Given the description of an element on the screen output the (x, y) to click on. 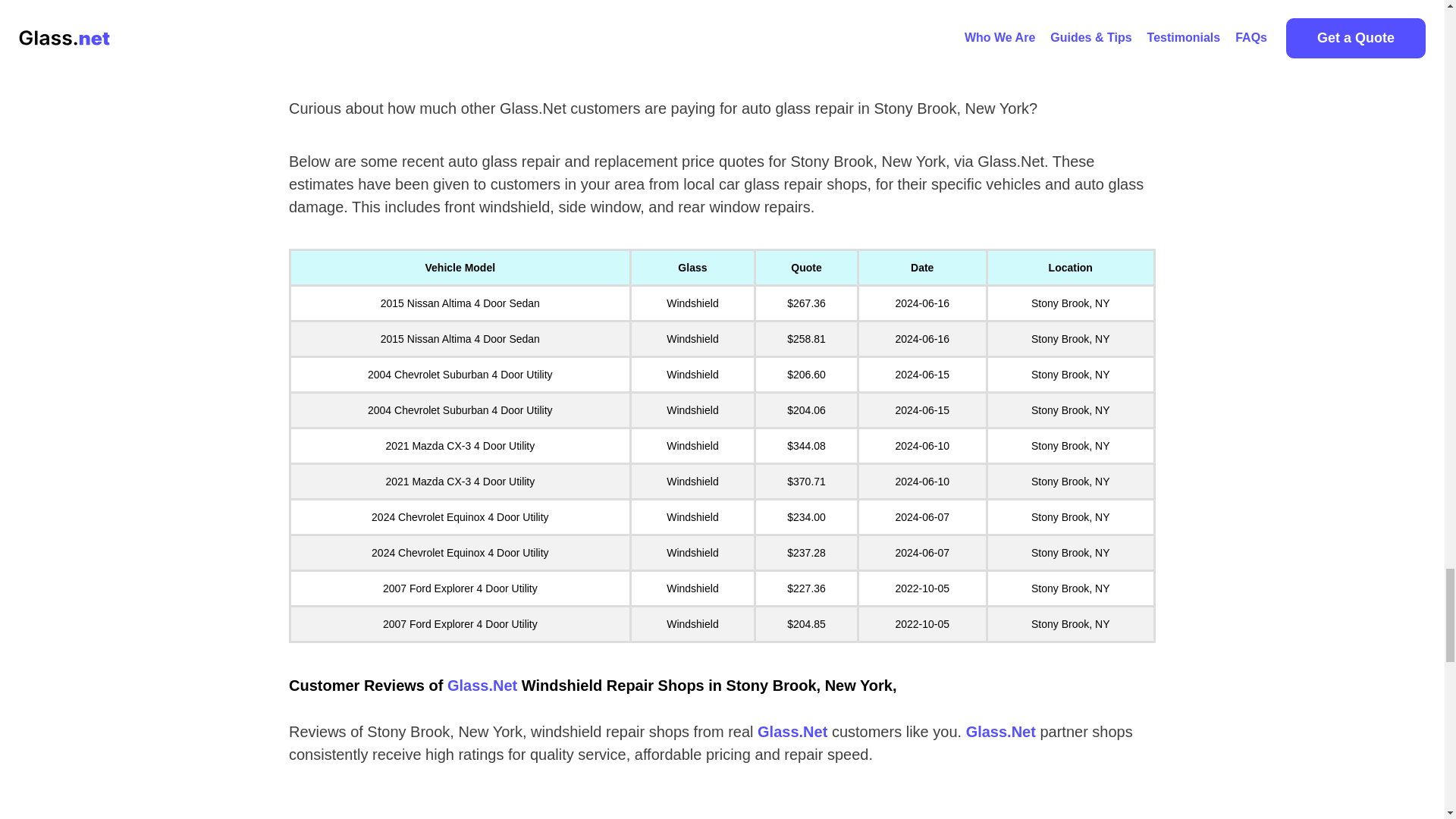
Glass.Net (1000, 731)
Glass.Net (481, 685)
Glass.Net (792, 731)
